Given the description of an element on the screen output the (x, y) to click on. 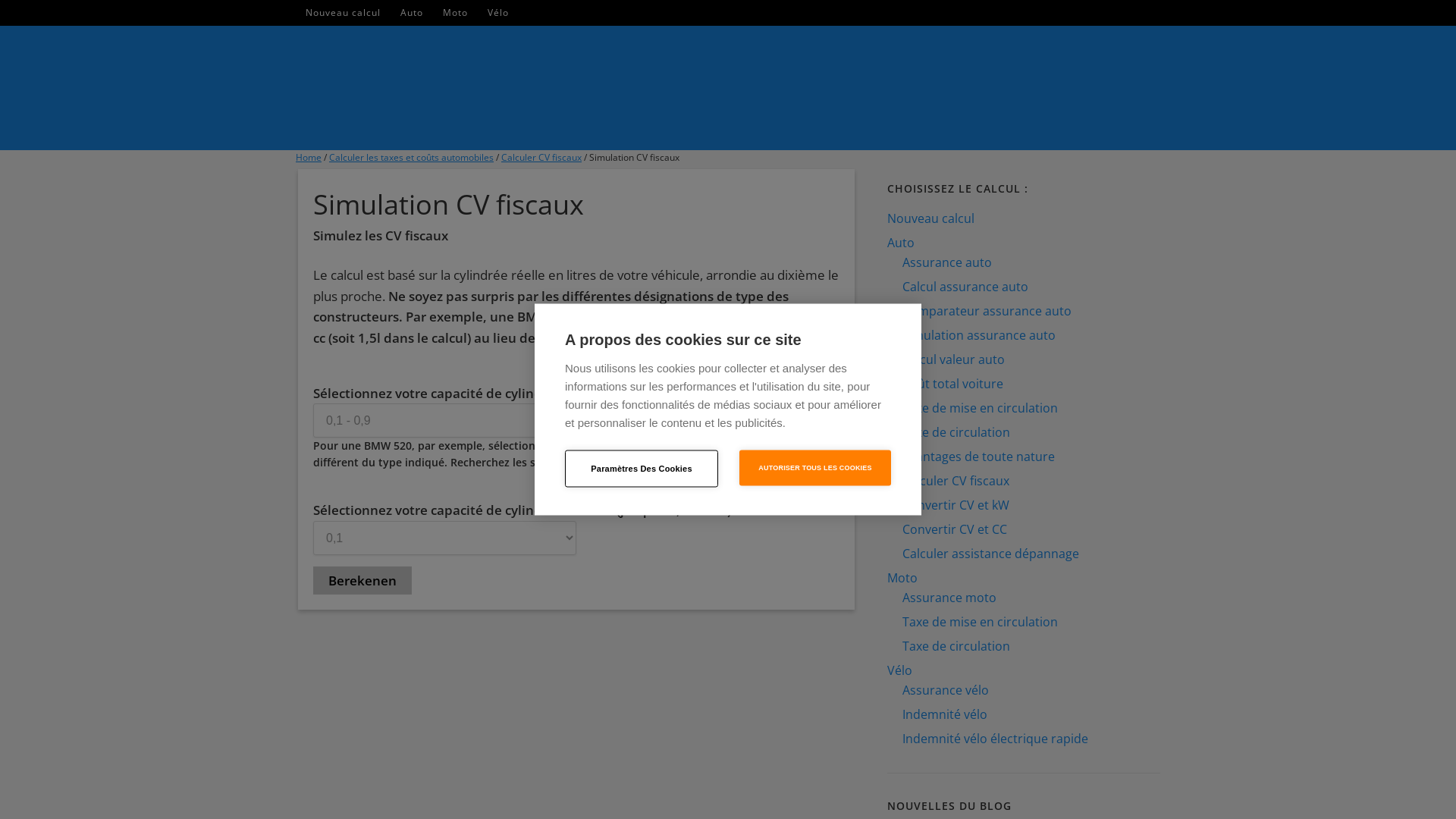
Avantages de toute nature Element type: text (978, 456)
Comparateur assurance auto Element type: text (986, 310)
Nouveau calcul Element type: text (342, 12)
Convertir CV et kW Element type: text (955, 504)
Auto Element type: text (411, 12)
Nouveau calcul Element type: text (930, 218)
Calculer CV fiscaux Element type: text (541, 156)
Calcul assurance auto Element type: text (965, 286)
Moto Element type: text (902, 577)
Calculer CV fiscaux Element type: text (955, 480)
AUTORISER TOUS LES COOKIES Element type: text (815, 468)
Taxe de mise en circulation Element type: text (979, 407)
Convertir CV et CC Element type: text (954, 528)
Taxe de mise en circulation Element type: text (979, 621)
Taxe de circulation Element type: text (956, 431)
Assurance moto Element type: text (949, 597)
Simulation assurance auto Element type: text (978, 334)
Taxe de circulation Element type: text (956, 645)
Assurance auto Element type: text (946, 262)
Moto Element type: text (455, 12)
Home Element type: text (308, 156)
Calcul valeur auto Element type: text (953, 359)
Auto Element type: text (900, 242)
